Given the description of an element on the screen output the (x, y) to click on. 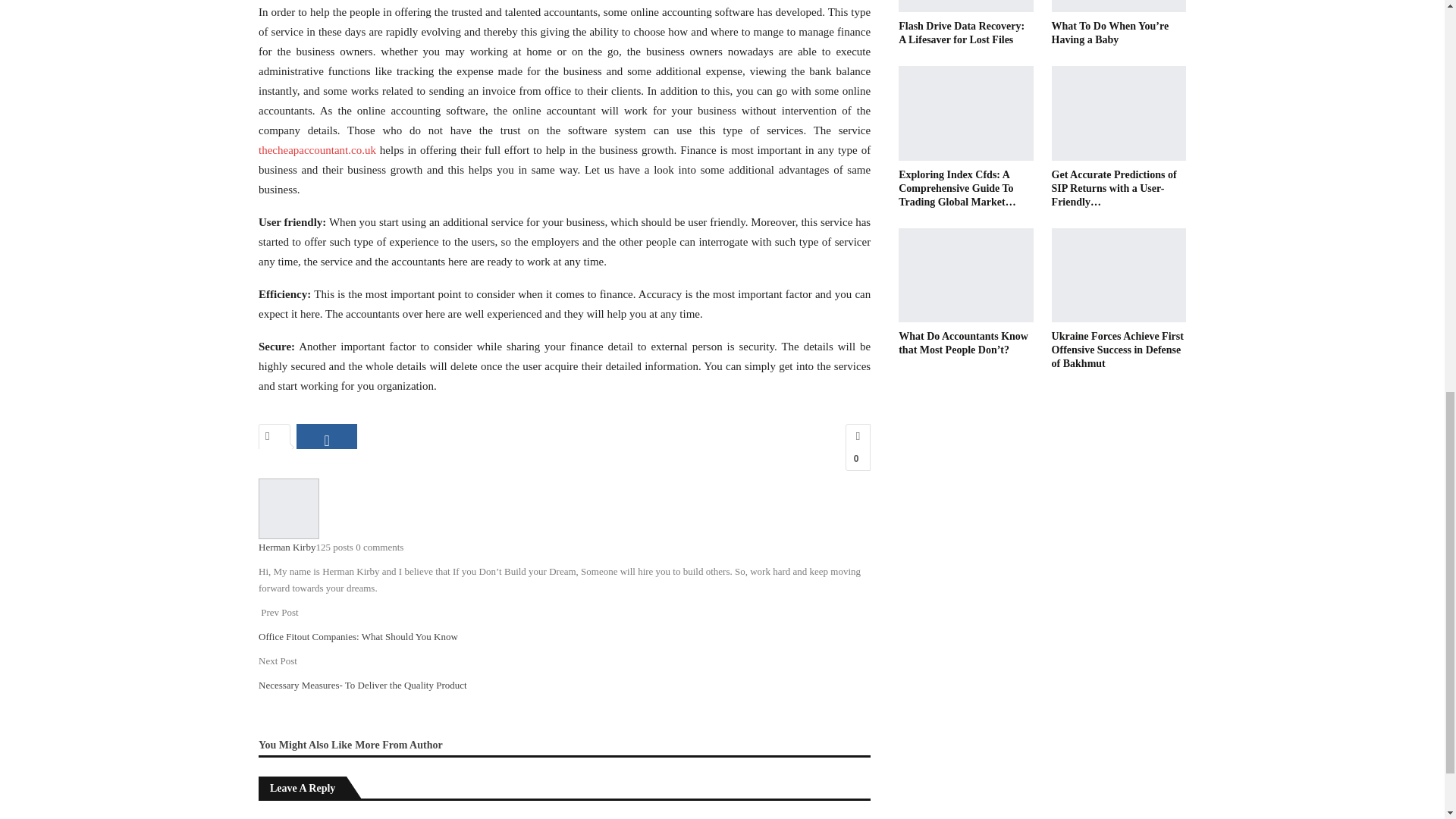
More From Author (398, 744)
You Might Also Like (307, 744)
Herman Kirby (287, 546)
thecheapaccountant.co.uk (317, 150)
Necessary Measures- To Deliver the Quality Product (363, 685)
Office Fitout Companies: What Should You Know (358, 636)
Browse Author Articles (288, 507)
